Given the description of an element on the screen output the (x, y) to click on. 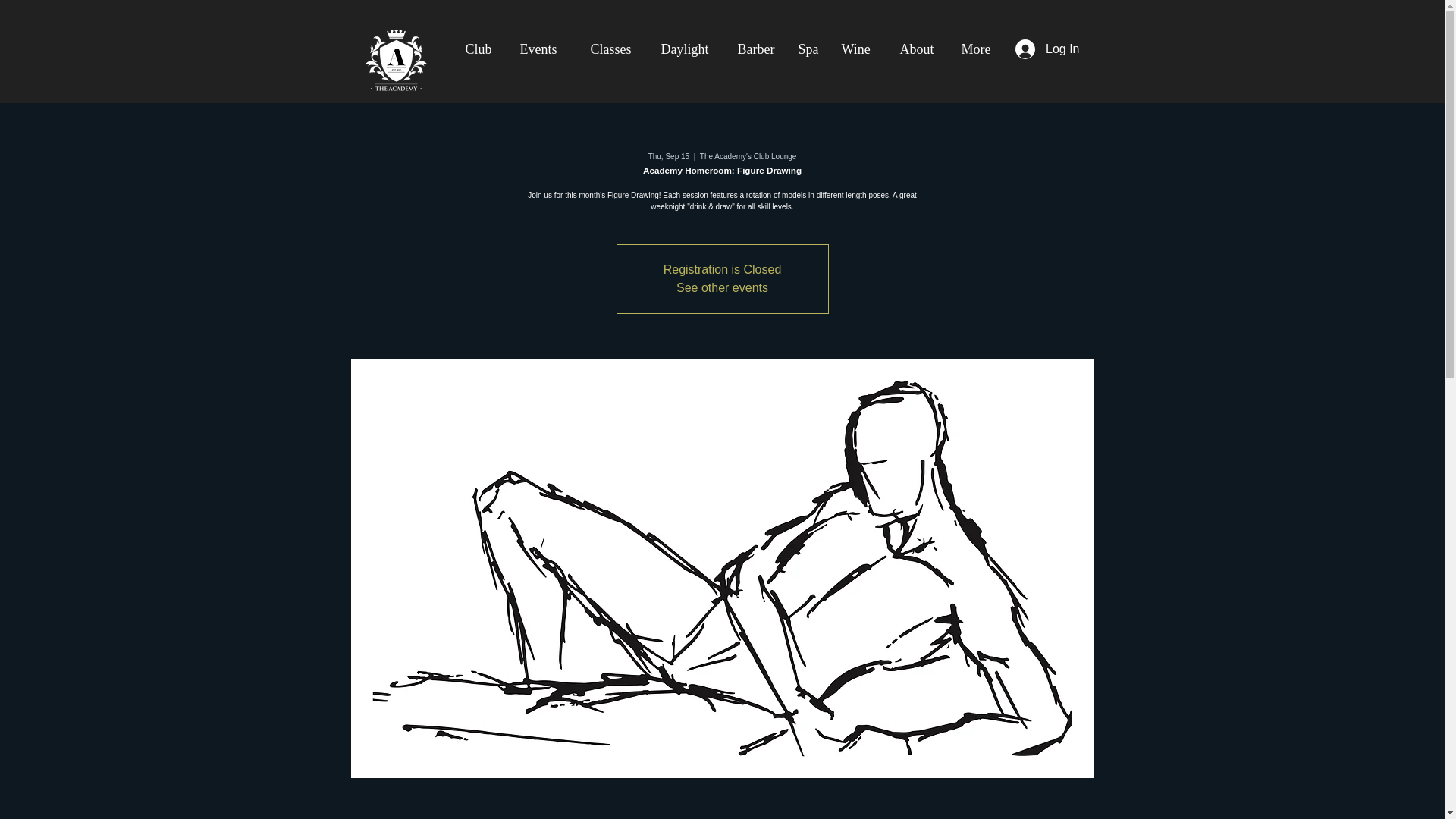
Barber (753, 48)
See other events (722, 287)
Spa (807, 48)
Log In (1046, 49)
